Given the description of an element on the screen output the (x, y) to click on. 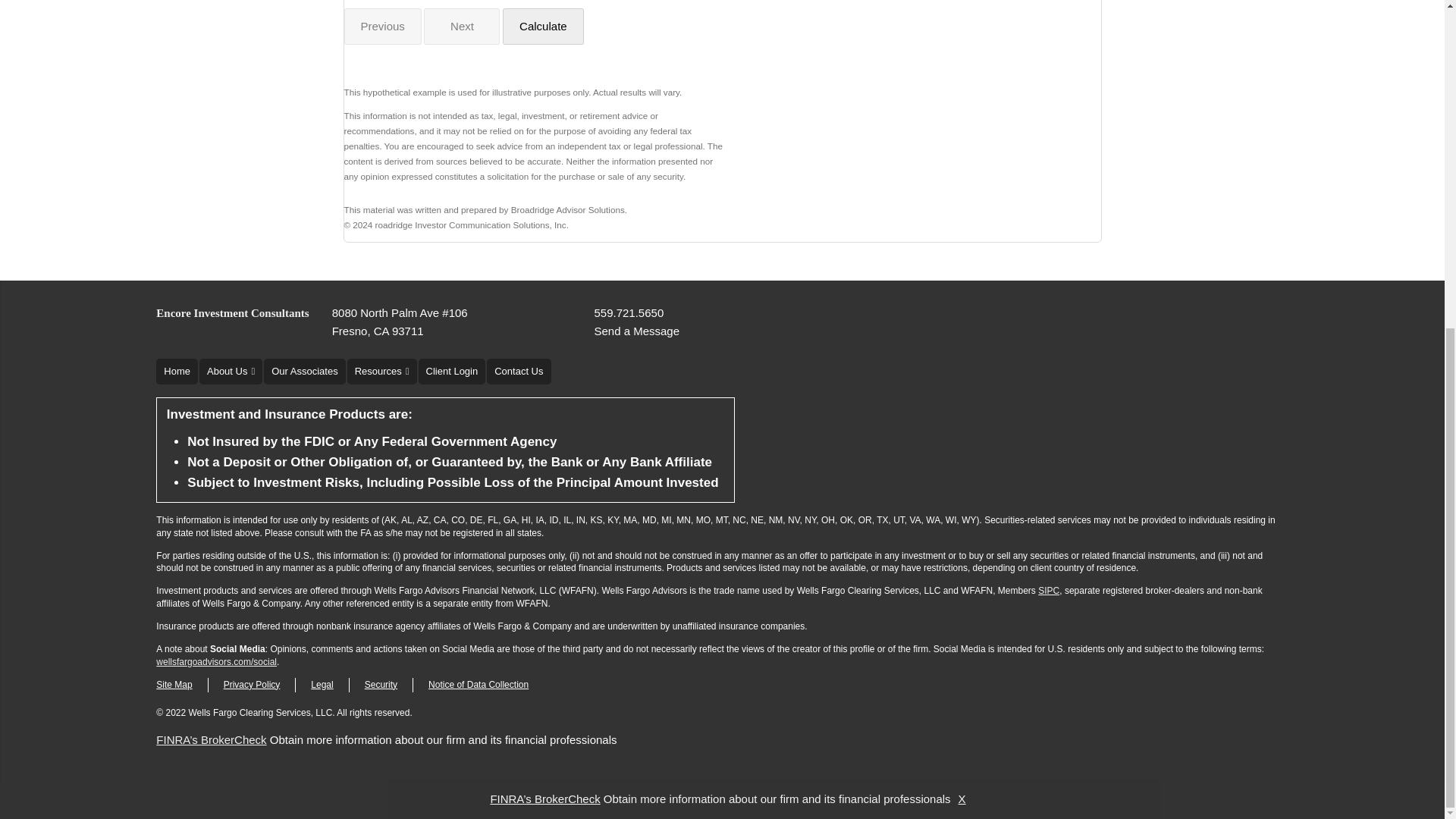
Next (461, 26)
Home (176, 371)
Calculate (542, 26)
About Us (230, 371)
Previous (382, 26)
Our Associates (304, 371)
559.721.5650 (628, 312)
Resources (381, 371)
Encore Investment Consultants (231, 312)
Send a Message (636, 331)
